Given the description of an element on the screen output the (x, y) to click on. 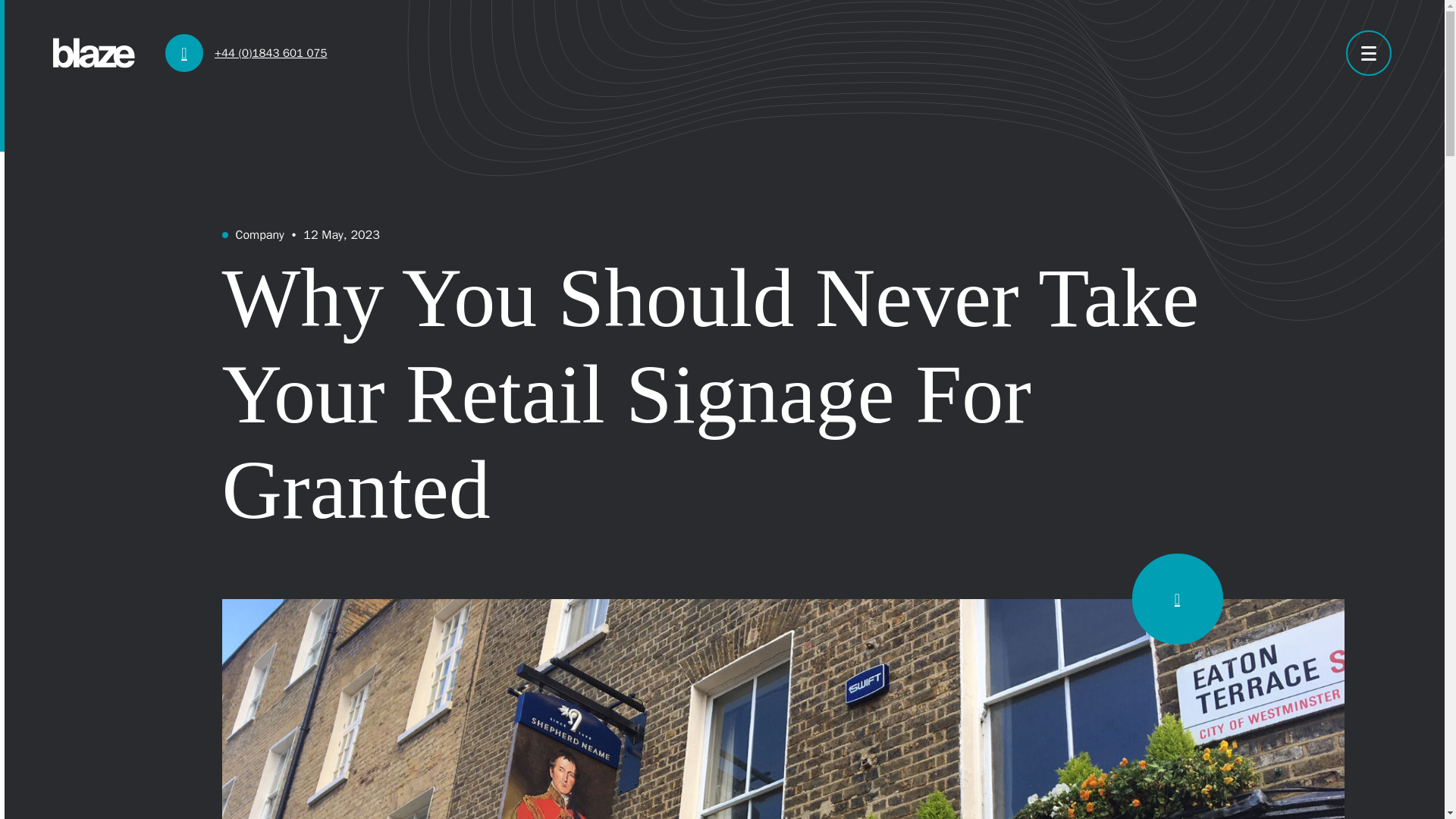
Menu (1368, 53)
Menu (1368, 53)
